Given the description of an element on the screen output the (x, y) to click on. 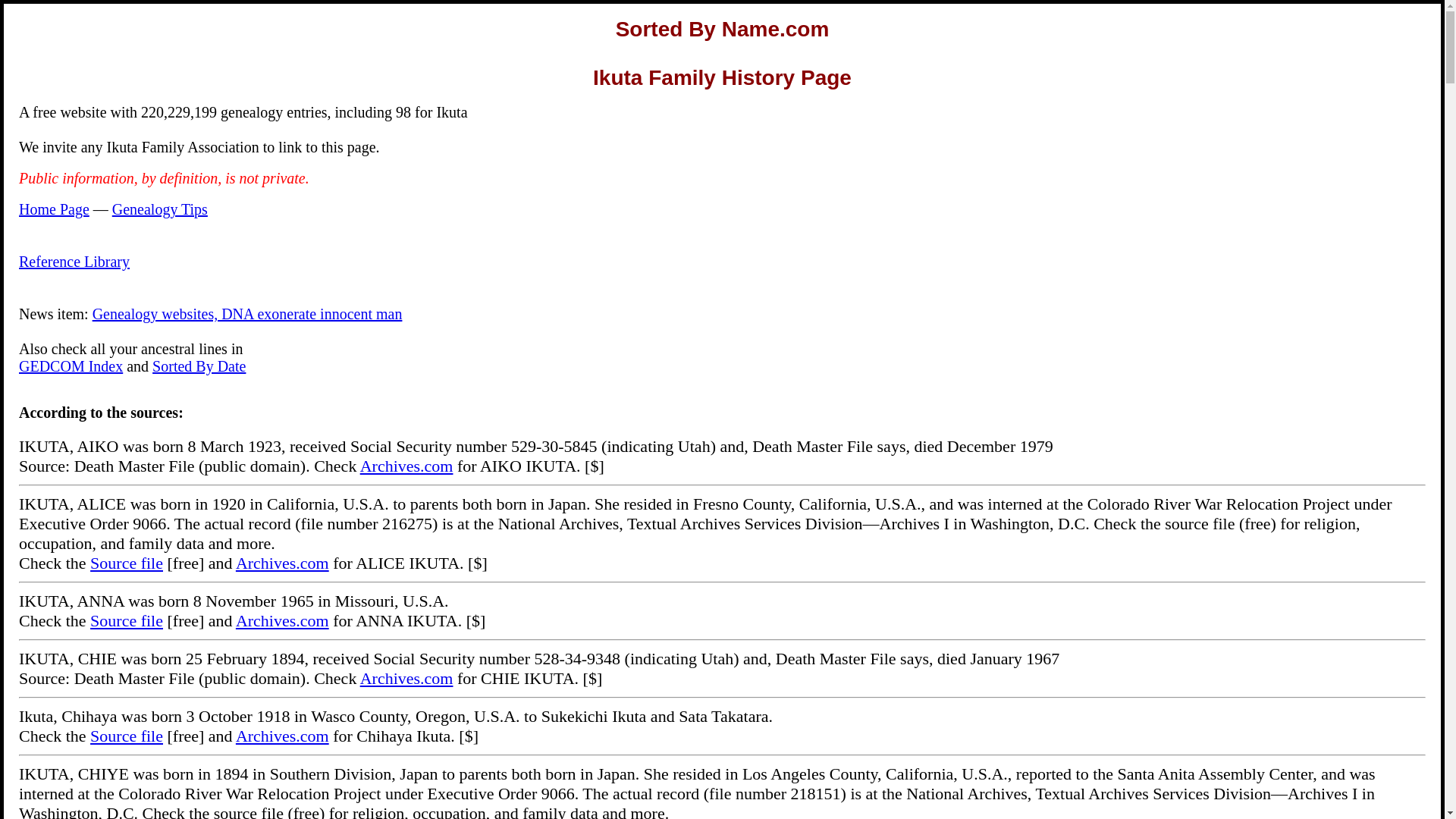
Genealogy websites, DNA exonerate innocent man (248, 313)
Archives.com (282, 735)
Reference Library (73, 261)
Archives.com (405, 465)
Genealogy Tips (160, 208)
Source file (126, 562)
Archives.com (282, 562)
Archives.com (405, 678)
GEDCOM Index (70, 365)
Archives.com (282, 619)
Source file (126, 735)
Source file (126, 619)
Sorted By Date (199, 365)
Home Page (53, 208)
